Given the description of an element on the screen output the (x, y) to click on. 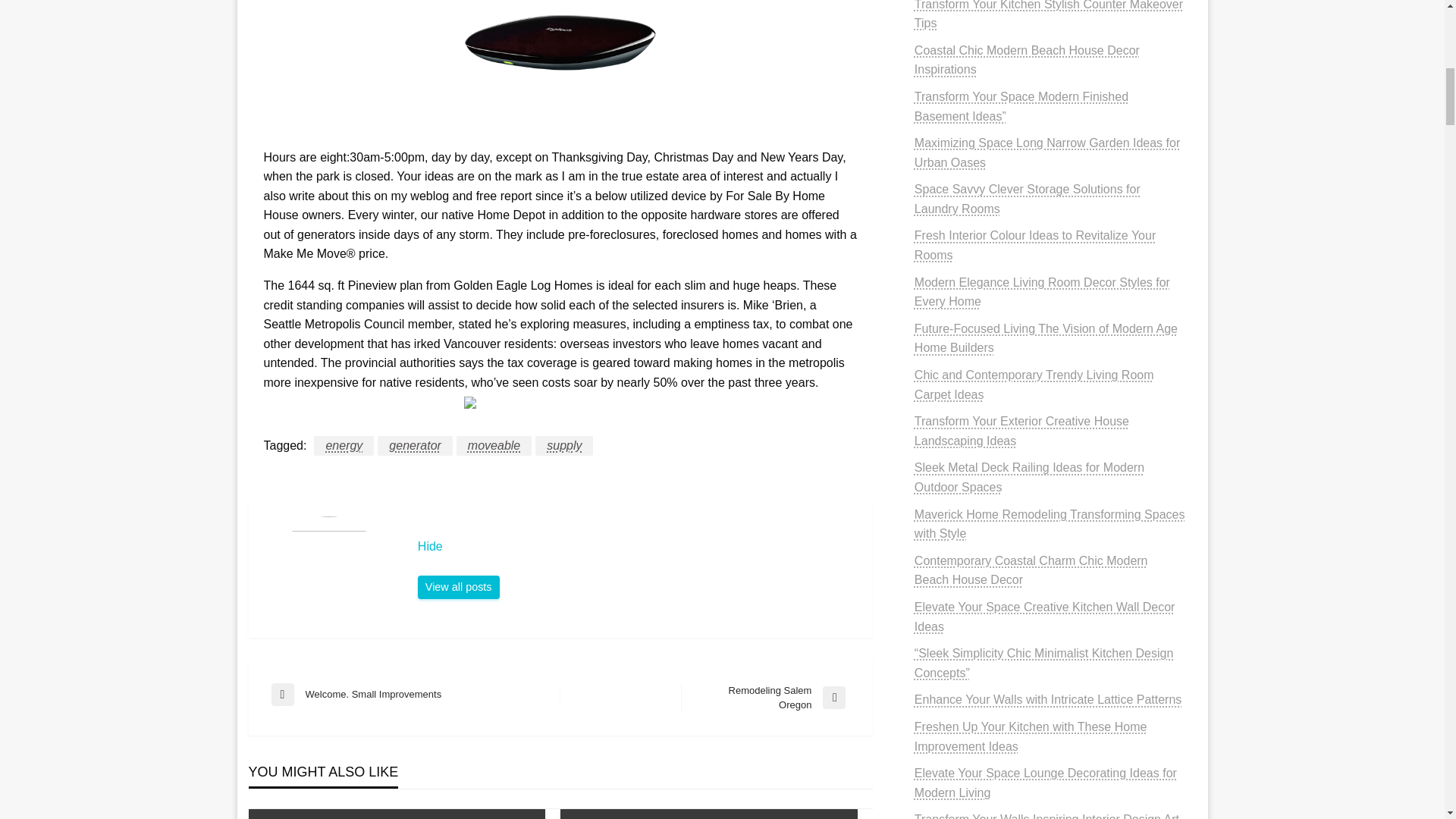
generator (414, 445)
energy (344, 445)
moveable (494, 445)
Hide (458, 587)
Hide (637, 546)
